Given the description of an element on the screen output the (x, y) to click on. 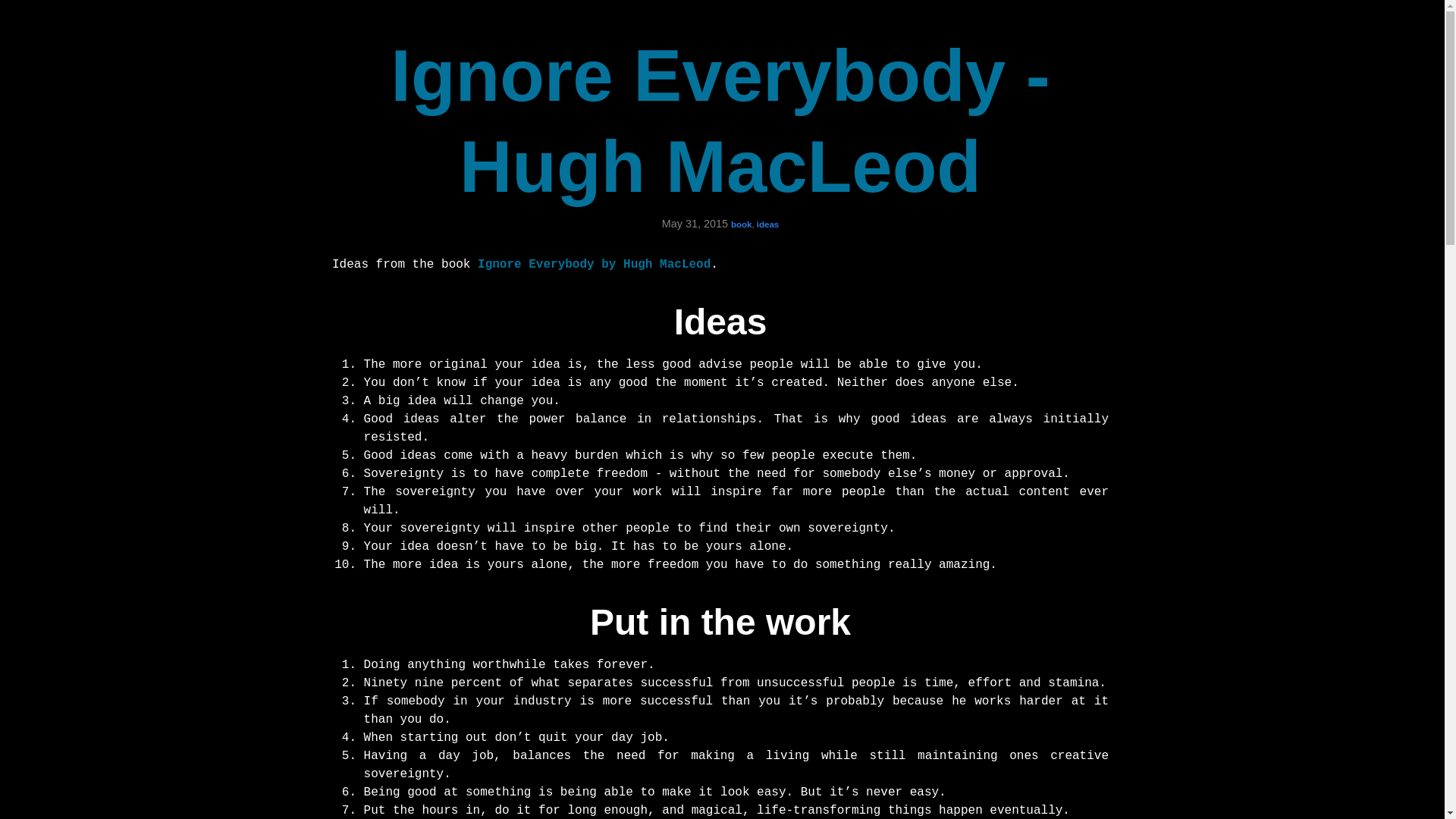
All pages tagged 'ideas'. (767, 224)
ideas (767, 224)
All pages tagged 'book'. (741, 224)
book (741, 224)
Ignore Everybody - Hugh MacLeod (719, 121)
Ignore Everybody by Hugh MacLeod (593, 264)
